Given the description of an element on the screen output the (x, y) to click on. 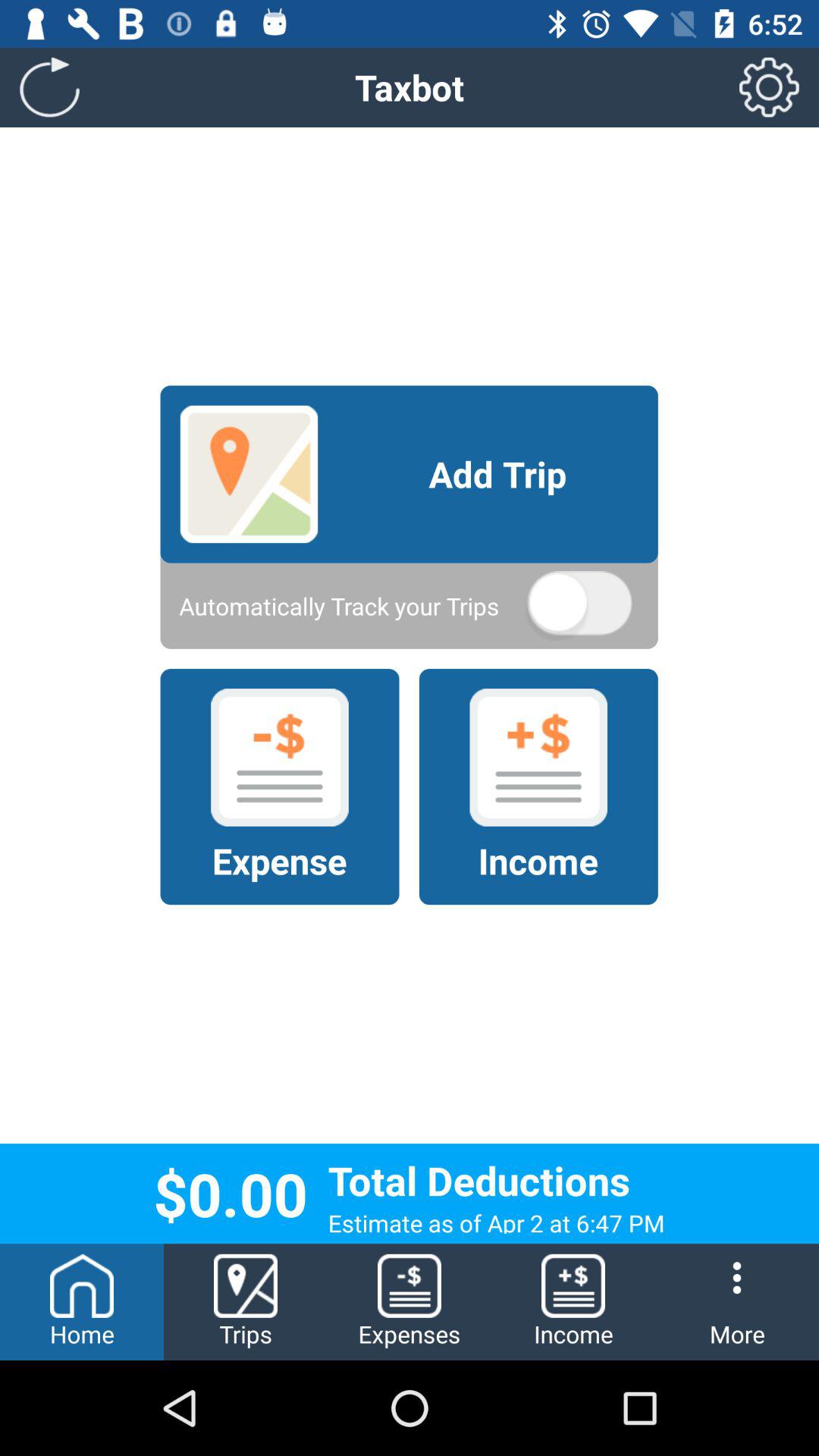
scroll to the expenses item (409, 1301)
